Given the description of an element on the screen output the (x, y) to click on. 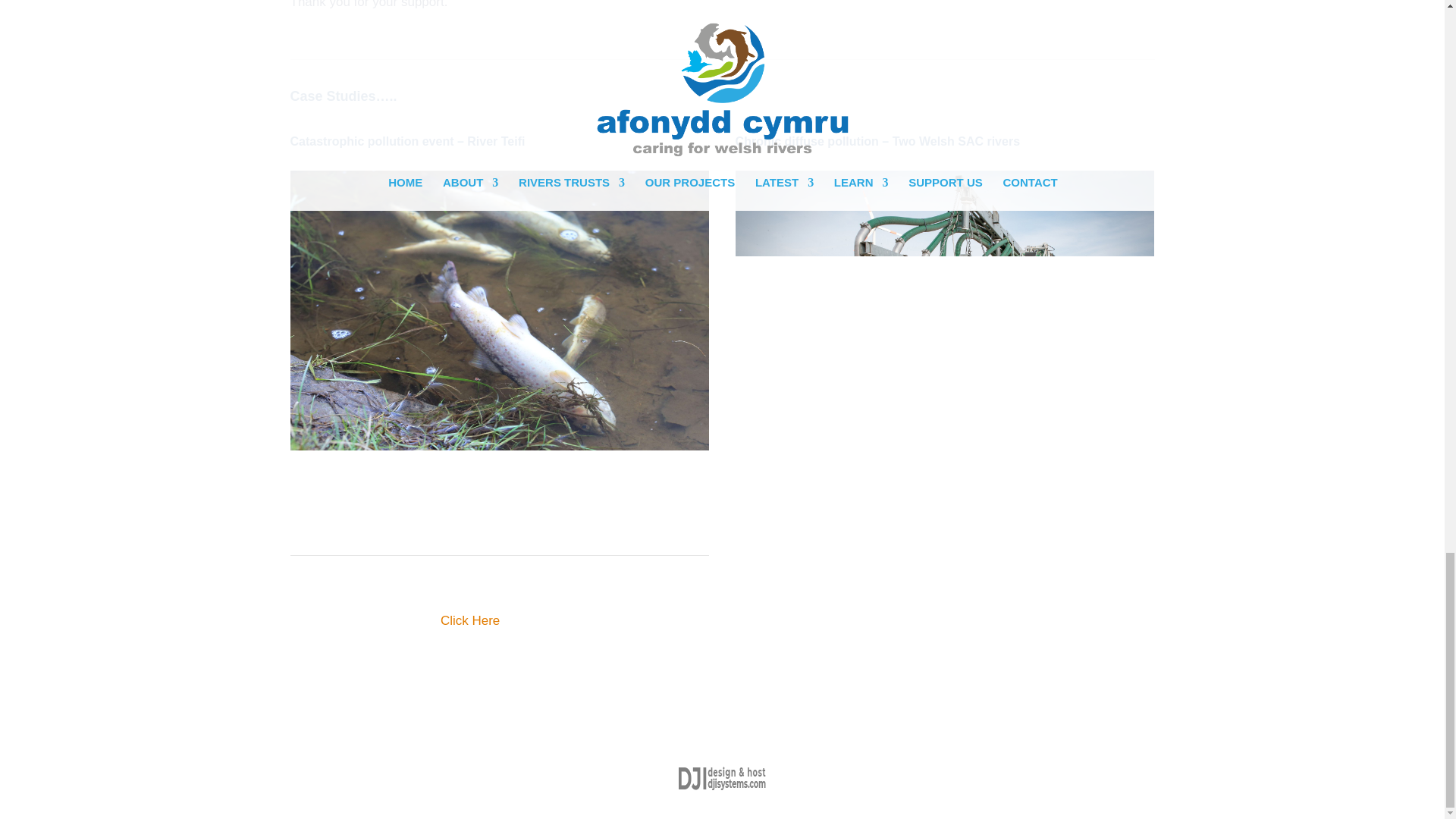
AY0A3548-6000 (499, 310)
Follow on Facebook (301, 520)
Follow on Twitter (331, 520)
